Given the description of an element on the screen output the (x, y) to click on. 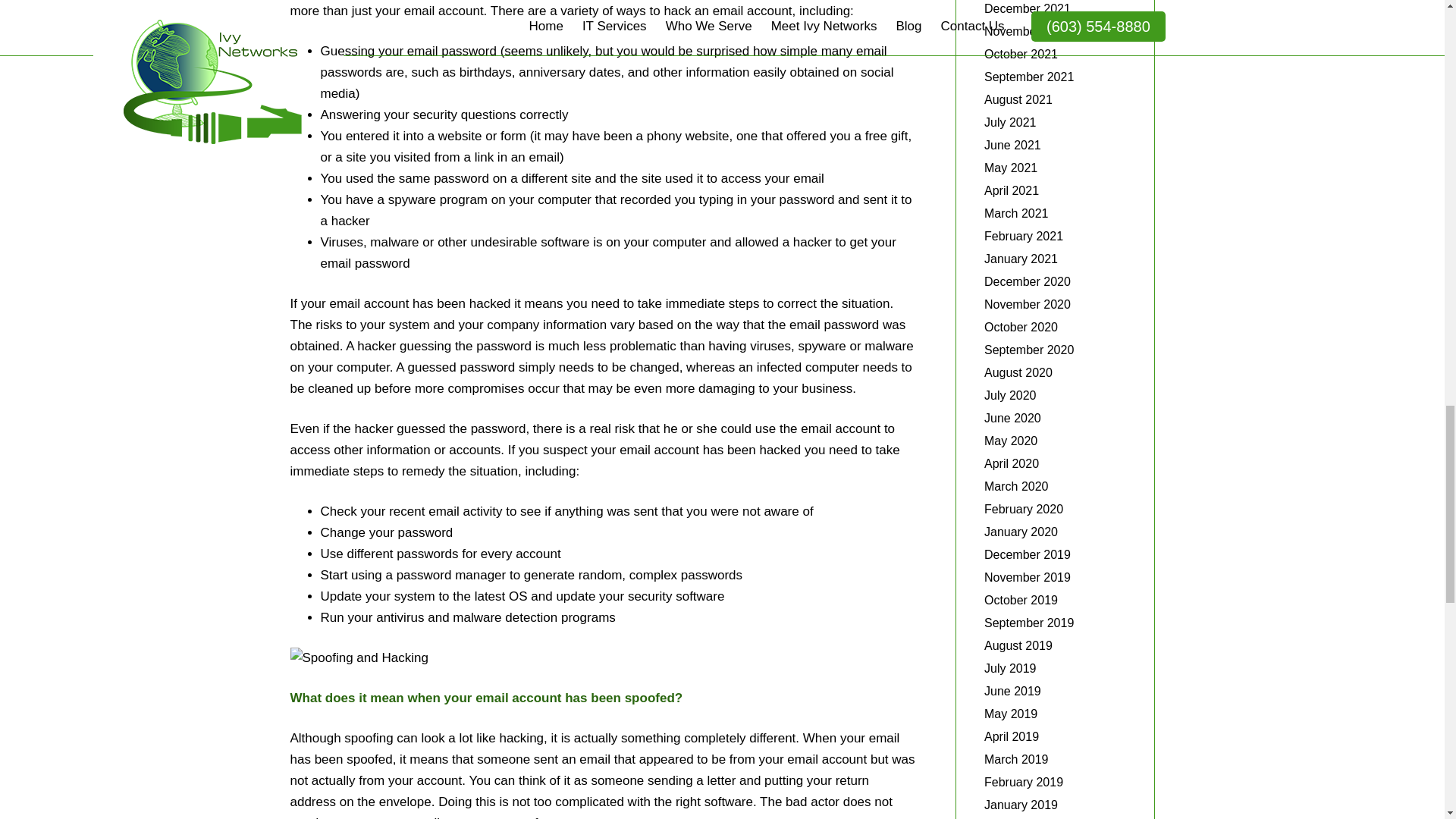
October 2021 (1021, 53)
November 2021 (1027, 31)
December 2021 (1027, 8)
